Given the description of an element on the screen output the (x, y) to click on. 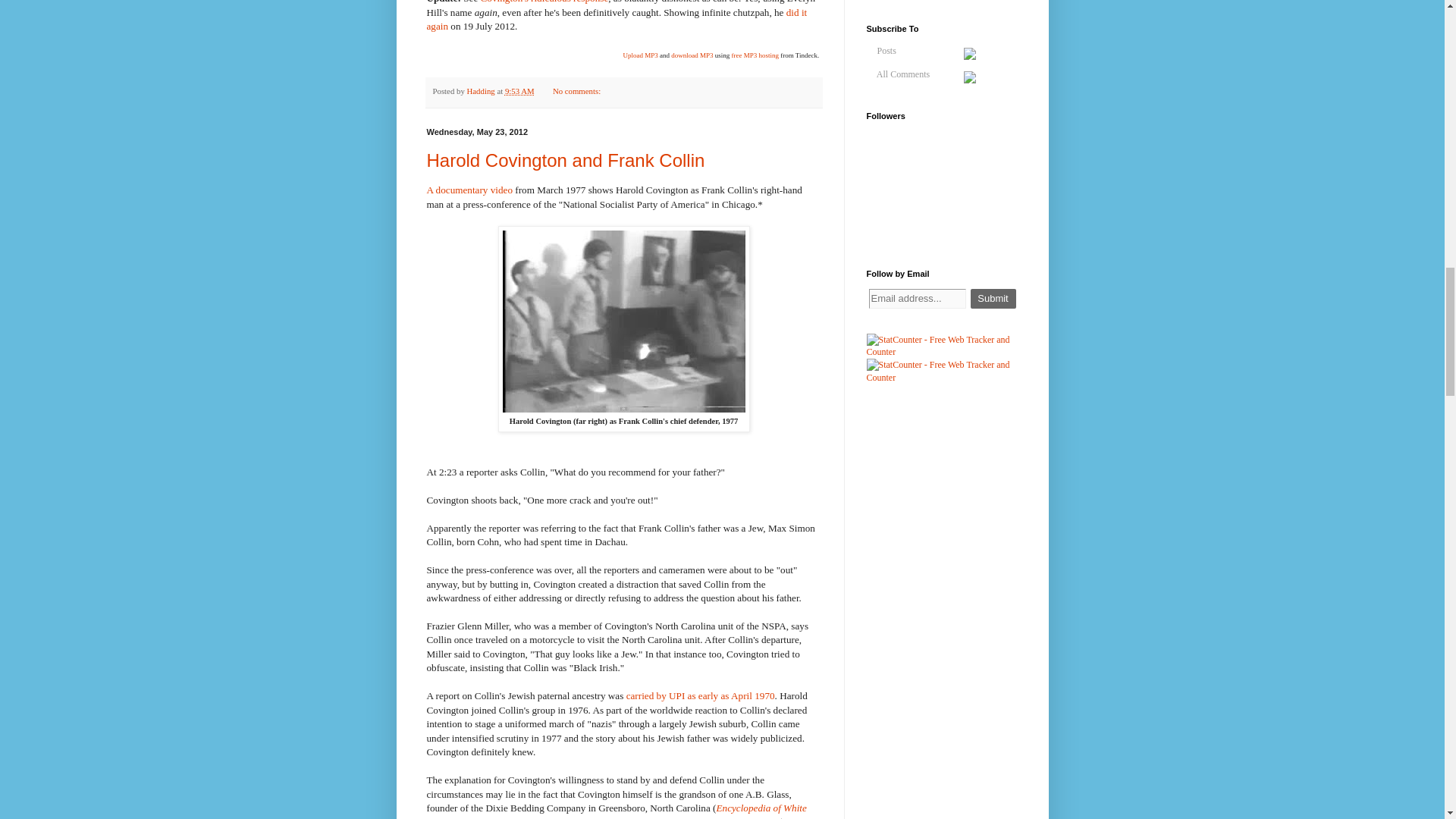
Share to Twitter (662, 92)
A documentary video (469, 189)
Upload MP3 (640, 54)
Share to Facebook (676, 92)
permanent link (519, 90)
carried by UPI as early as April 1970 (700, 695)
Email This (634, 92)
download MP3 (692, 54)
Harold Covington and Frank Collin (565, 159)
9:53 AM (519, 90)
